Given the description of an element on the screen output the (x, y) to click on. 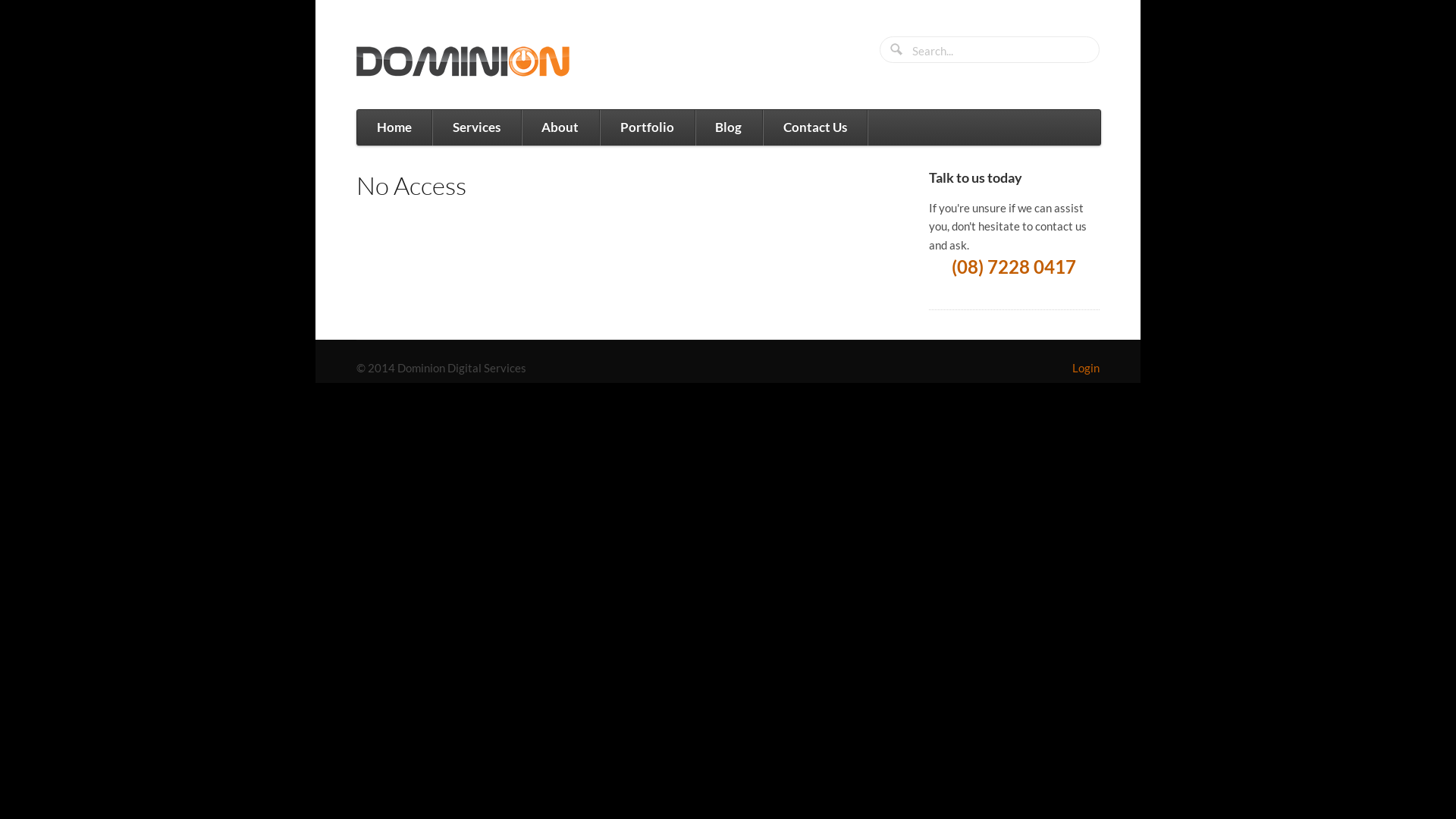
Services Element type: text (475, 127)
Business IT services for Adelaide, South Australia Element type: hover (469, 61)
Contact Us Element type: text (814, 127)
Login Element type: text (1085, 367)
(08) 7228 0417 Element type: text (1013, 266)
About Element type: text (559, 127)
Home Element type: text (393, 127)
Search Element type: text (897, 50)
Portfolio Element type: text (646, 127)
Blog Element type: text (728, 127)
